Given the description of an element on the screen output the (x, y) to click on. 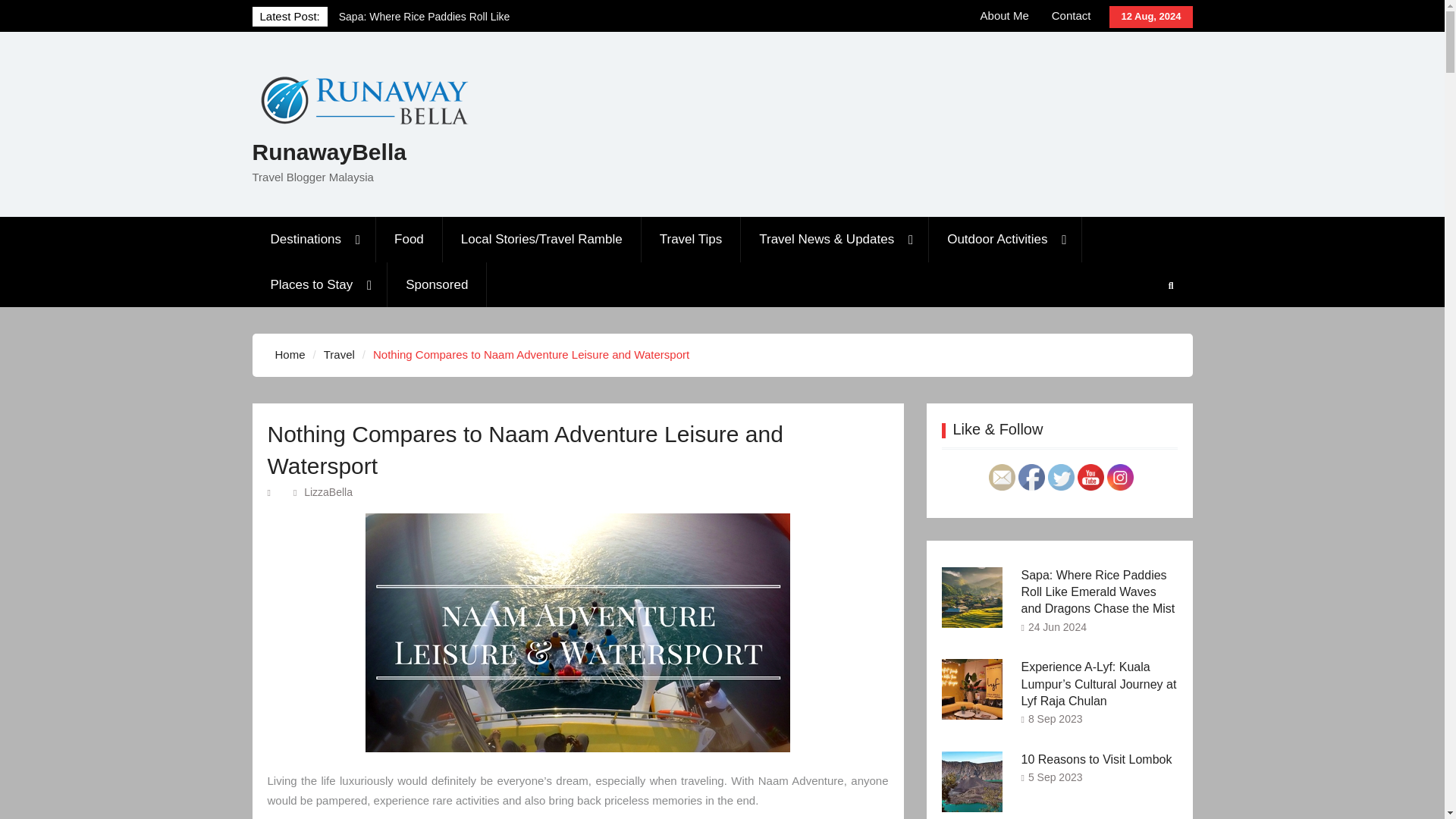
Instagram (1120, 477)
Email (1001, 477)
Twitter (1061, 477)
YouTube (1090, 477)
Facebook (1030, 477)
